Given the description of an element on the screen output the (x, y) to click on. 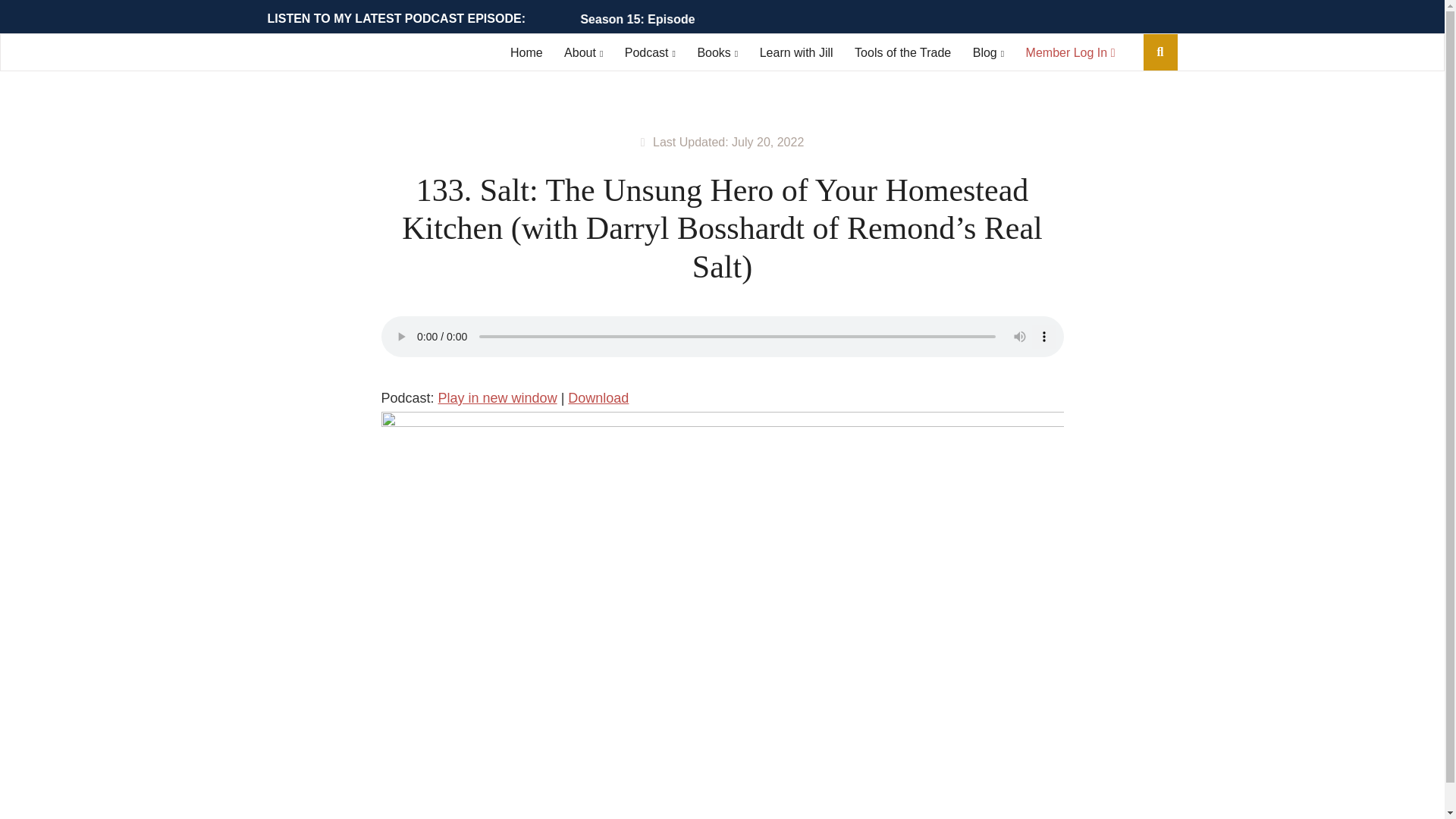
Download (597, 397)
Play in new window (497, 397)
Member Log In (1070, 52)
Podcast (649, 52)
Books (717, 52)
Play in new window (497, 397)
The Prairie Homestead (347, 53)
Download (597, 397)
Home (527, 52)
About (583, 52)
Tools of the Trade (902, 52)
Learn with Jill (796, 52)
